Given the description of an element on the screen output the (x, y) to click on. 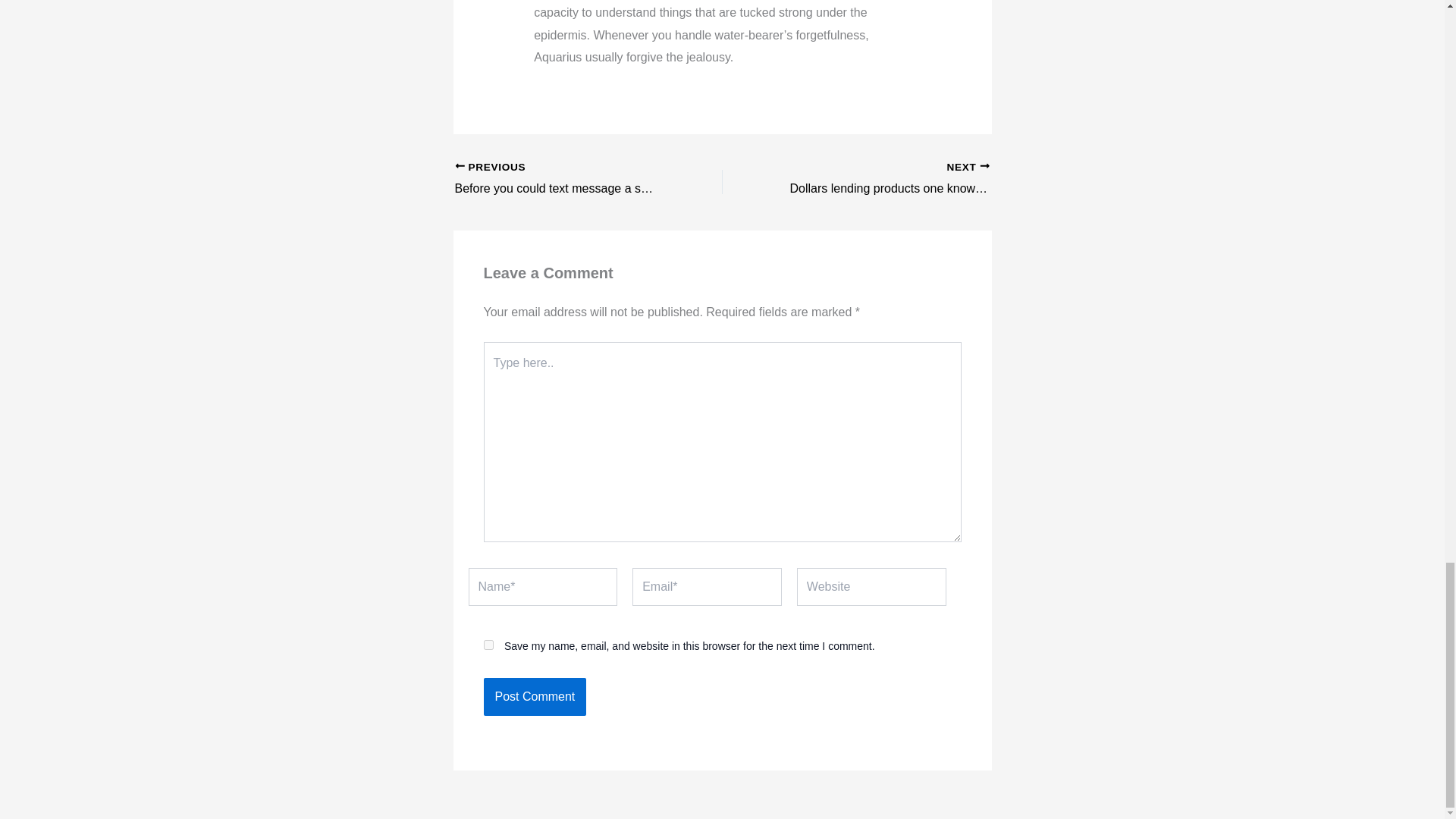
yes (488, 644)
Post Comment (534, 696)
Before you could text message a shy girl learn that it (561, 179)
